Given the description of an element on the screen output the (x, y) to click on. 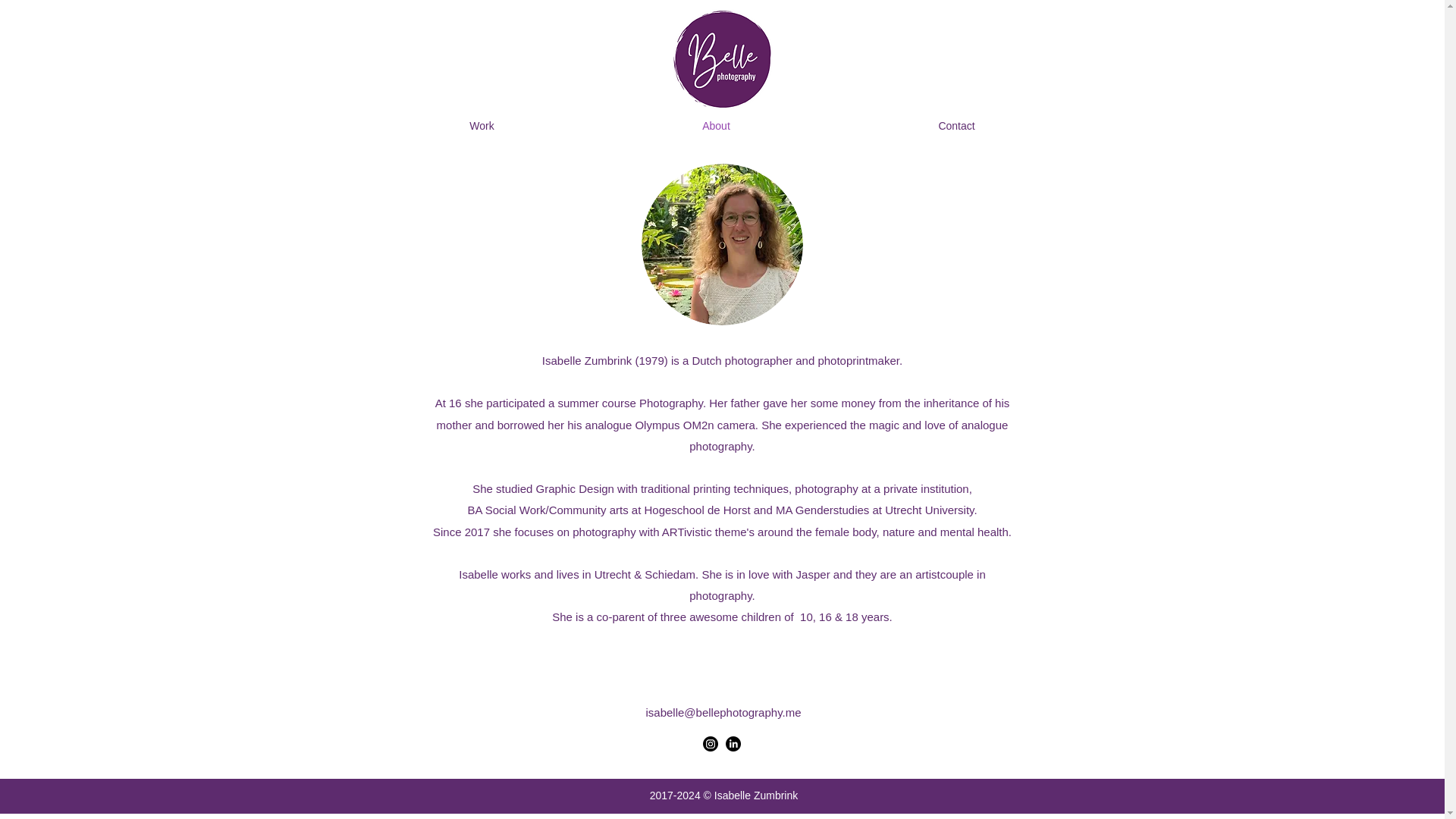
Contact (956, 125)
Work (480, 125)
About (715, 125)
